Given the description of an element on the screen output the (x, y) to click on. 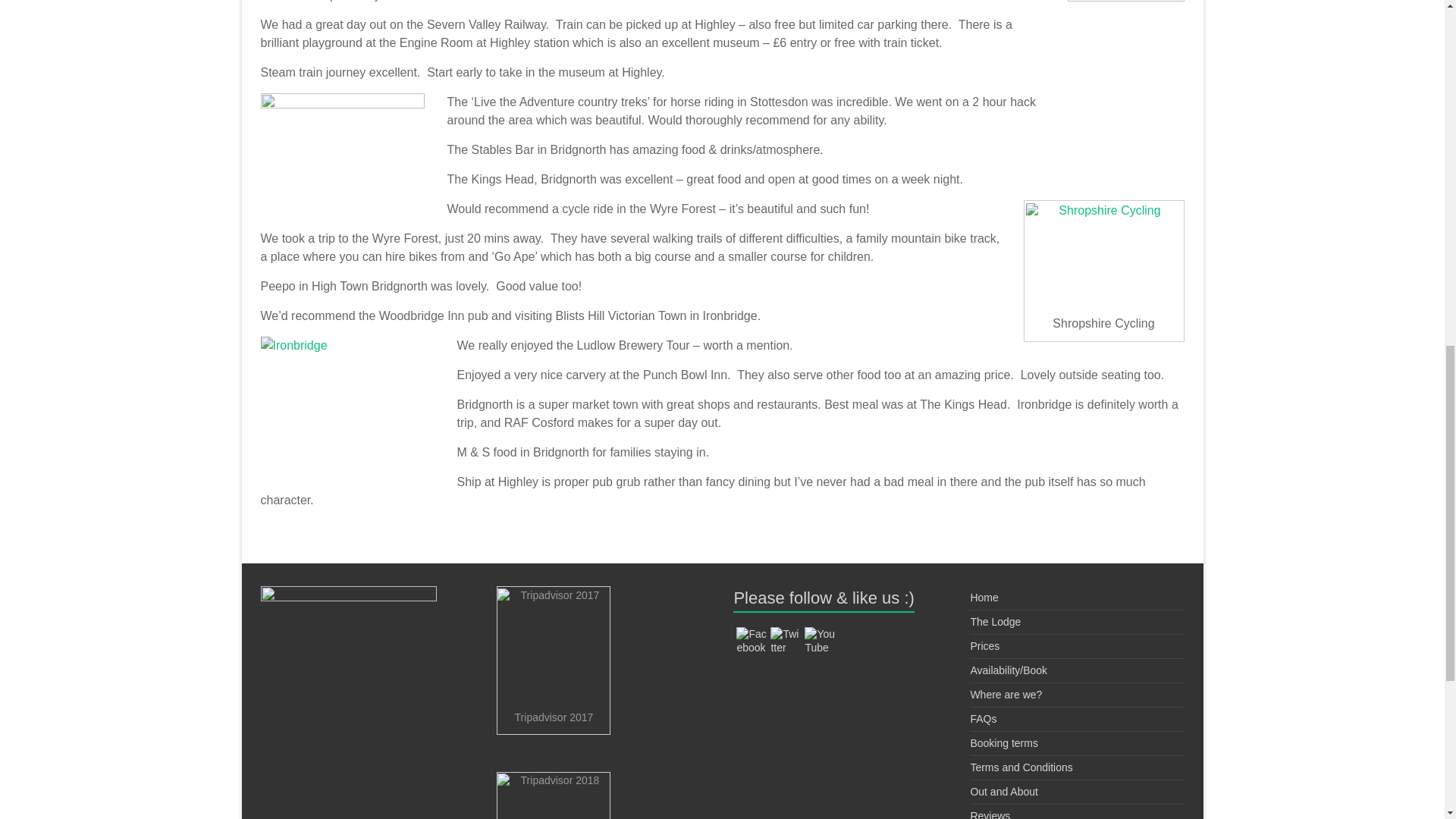
Booking terms (1002, 743)
YouTube (819, 640)
Terms and Conditions (1020, 767)
The Lodge (994, 621)
Facebook (751, 640)
Where are we? (1005, 694)
Out and About (1003, 791)
FAQs (982, 718)
Prices (983, 645)
Home (983, 597)
